Given the description of an element on the screen output the (x, y) to click on. 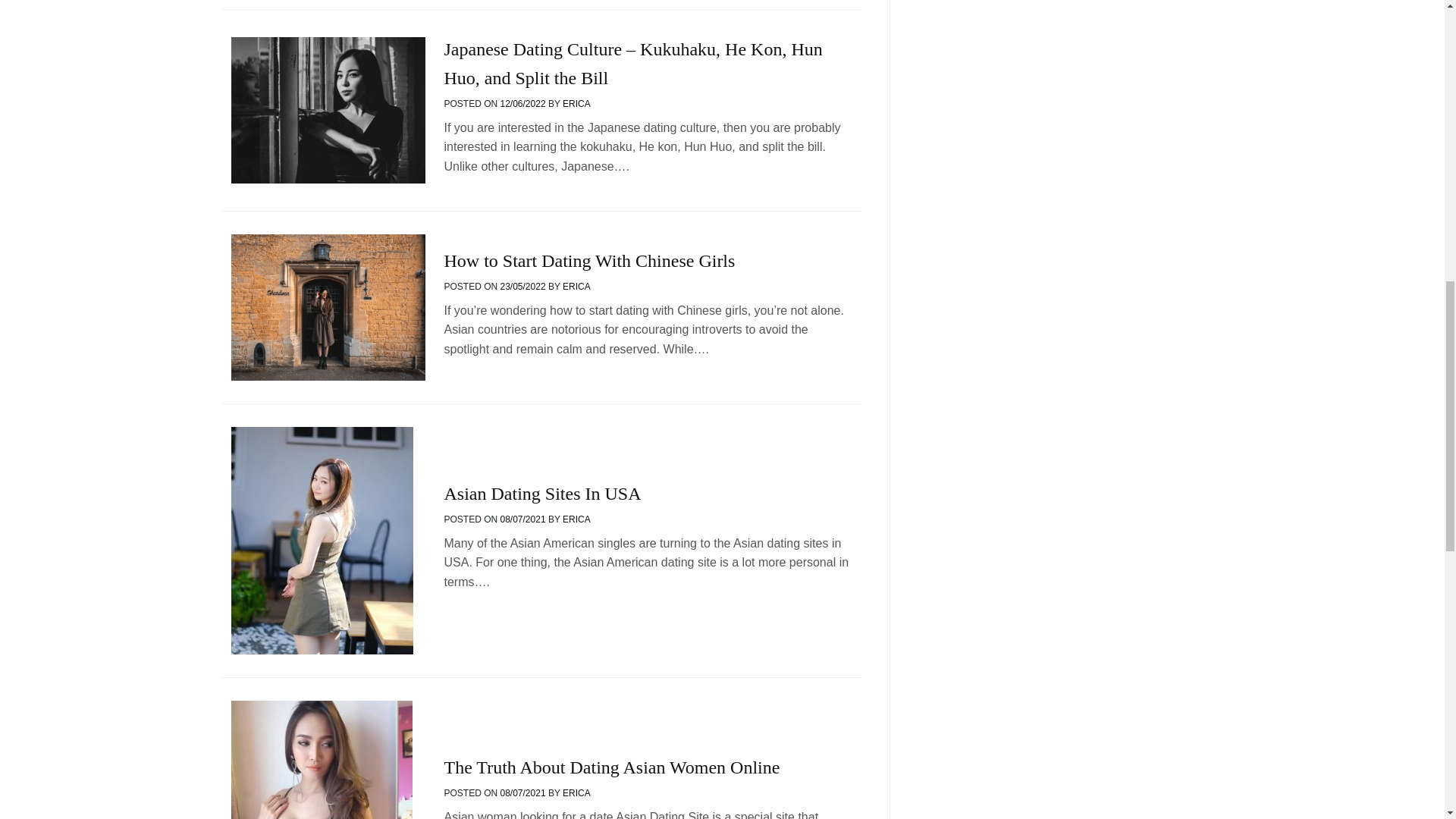
ERICA (576, 103)
How to Start Dating With Chinese Girls (589, 260)
